Given the description of an element on the screen output the (x, y) to click on. 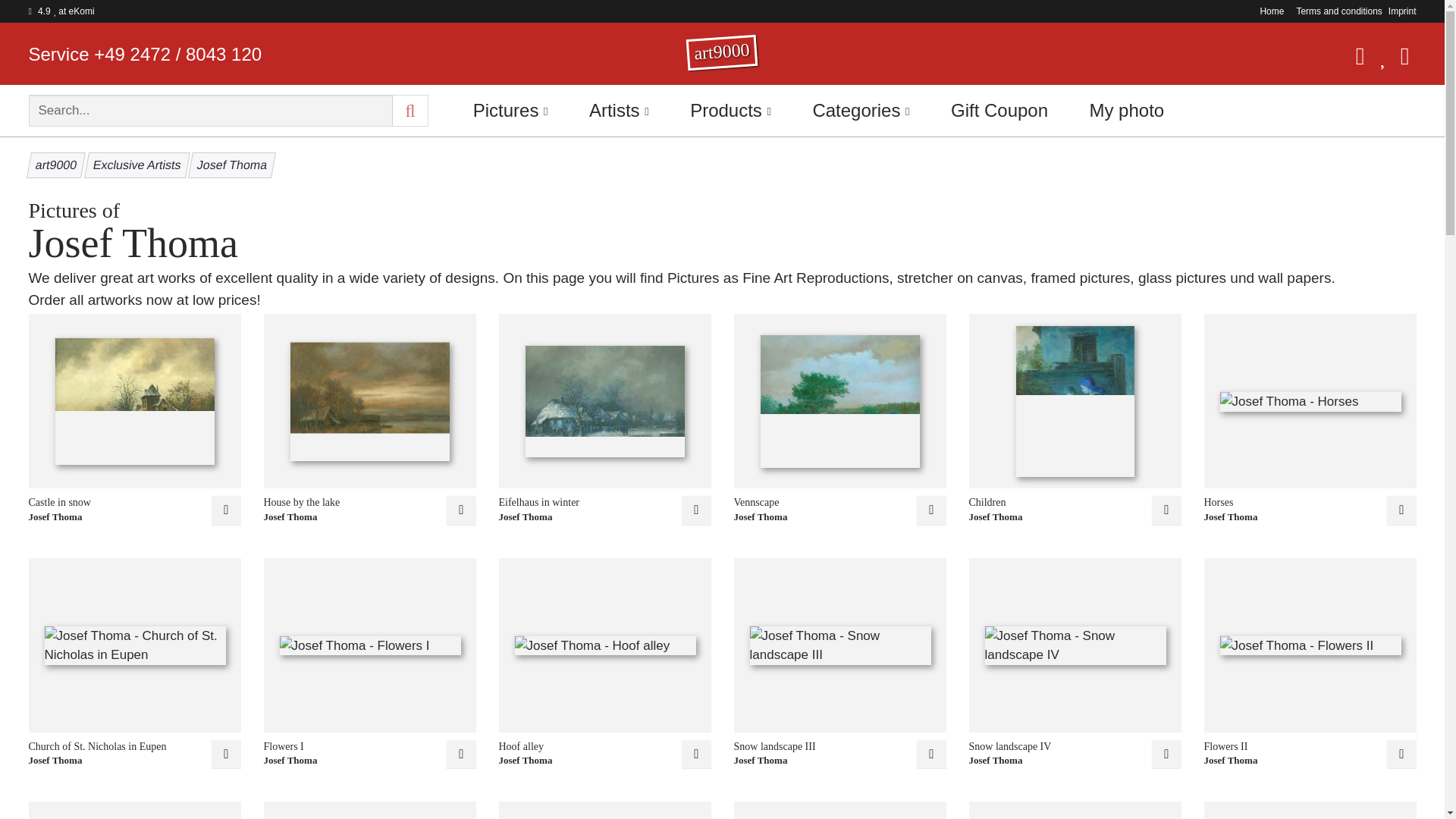
My Watch List (1378, 60)
Customer-Login (1354, 60)
Categories (861, 110)
art9000 (722, 56)
Artists (619, 110)
Pictures (509, 110)
art9000 - Home (722, 56)
Home (1268, 11)
4.9 at eKomi (61, 11)
Shopping Cart (1399, 60)
